Given the description of an element on the screen output the (x, y) to click on. 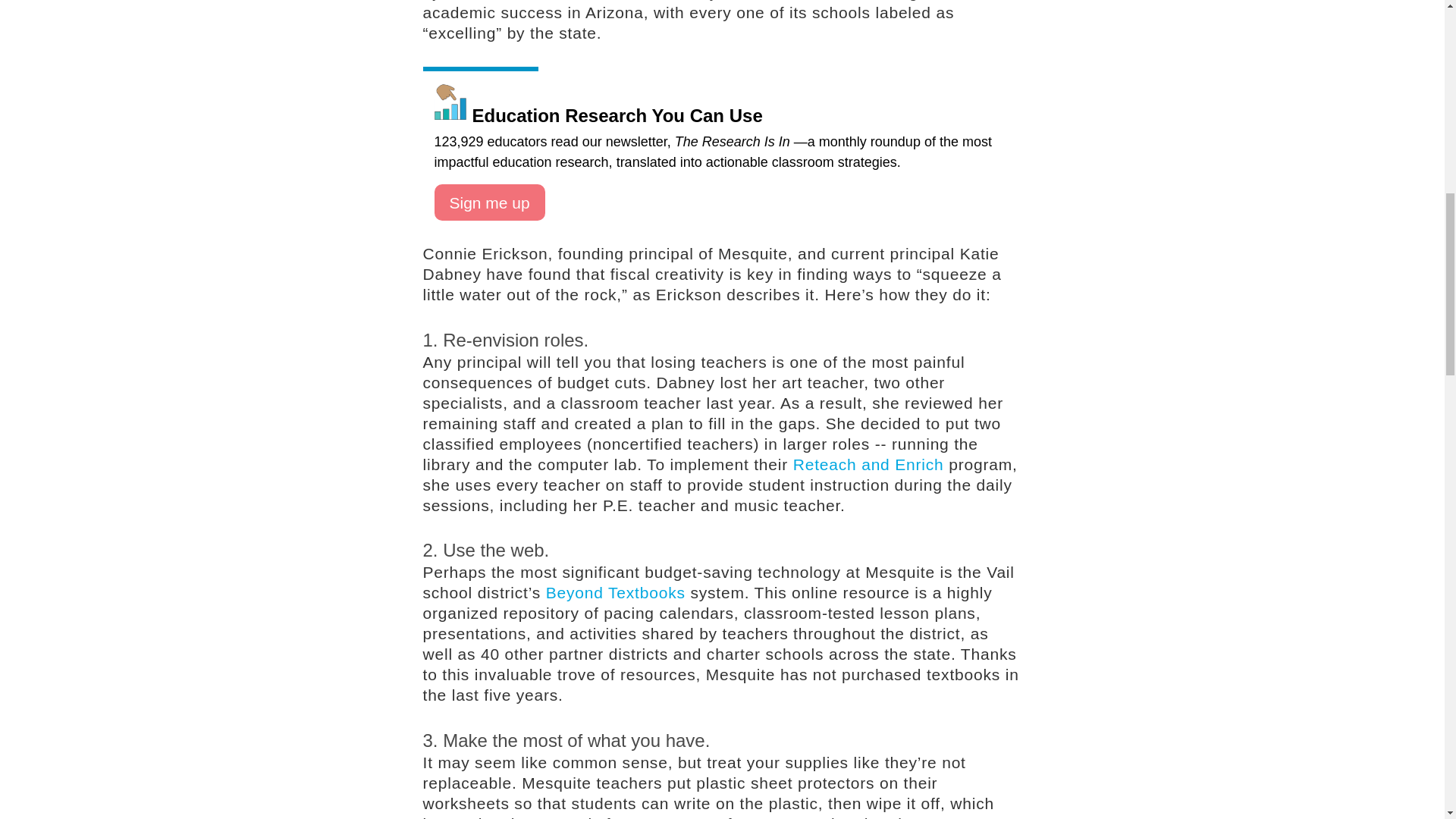
Beyond Textbooks (615, 592)
Reteach and Enrich (868, 464)
Sign me up (488, 202)
